Given the description of an element on the screen output the (x, y) to click on. 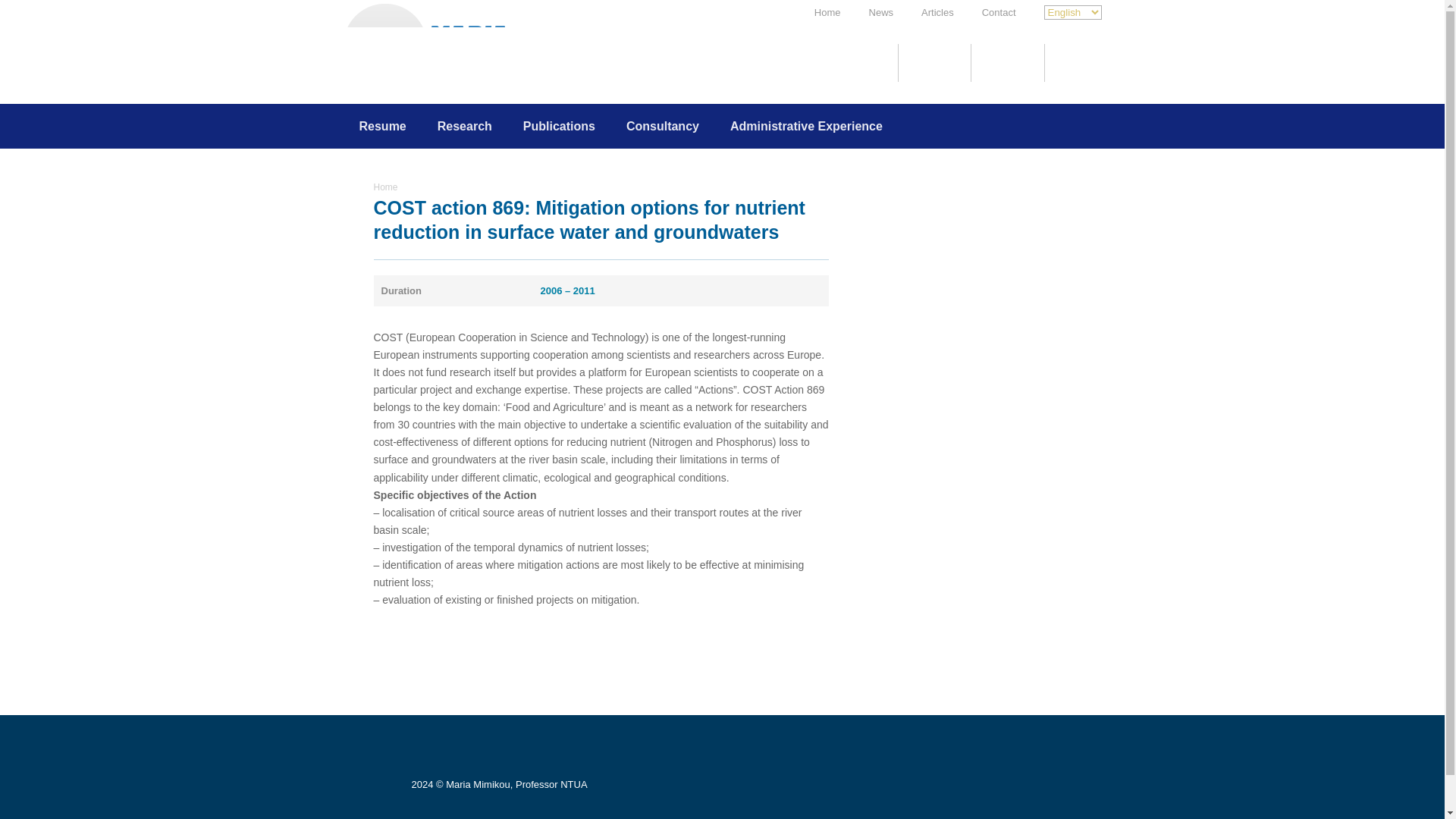
Home (827, 12)
News (881, 12)
Home (384, 186)
Research (464, 126)
Articles (937, 12)
Administrative Experience (806, 126)
Centre for Hydrology and Informatics (933, 62)
Contact (998, 12)
Maria Mimikou (441, 82)
Publications (559, 126)
